Given the description of an element on the screen output the (x, y) to click on. 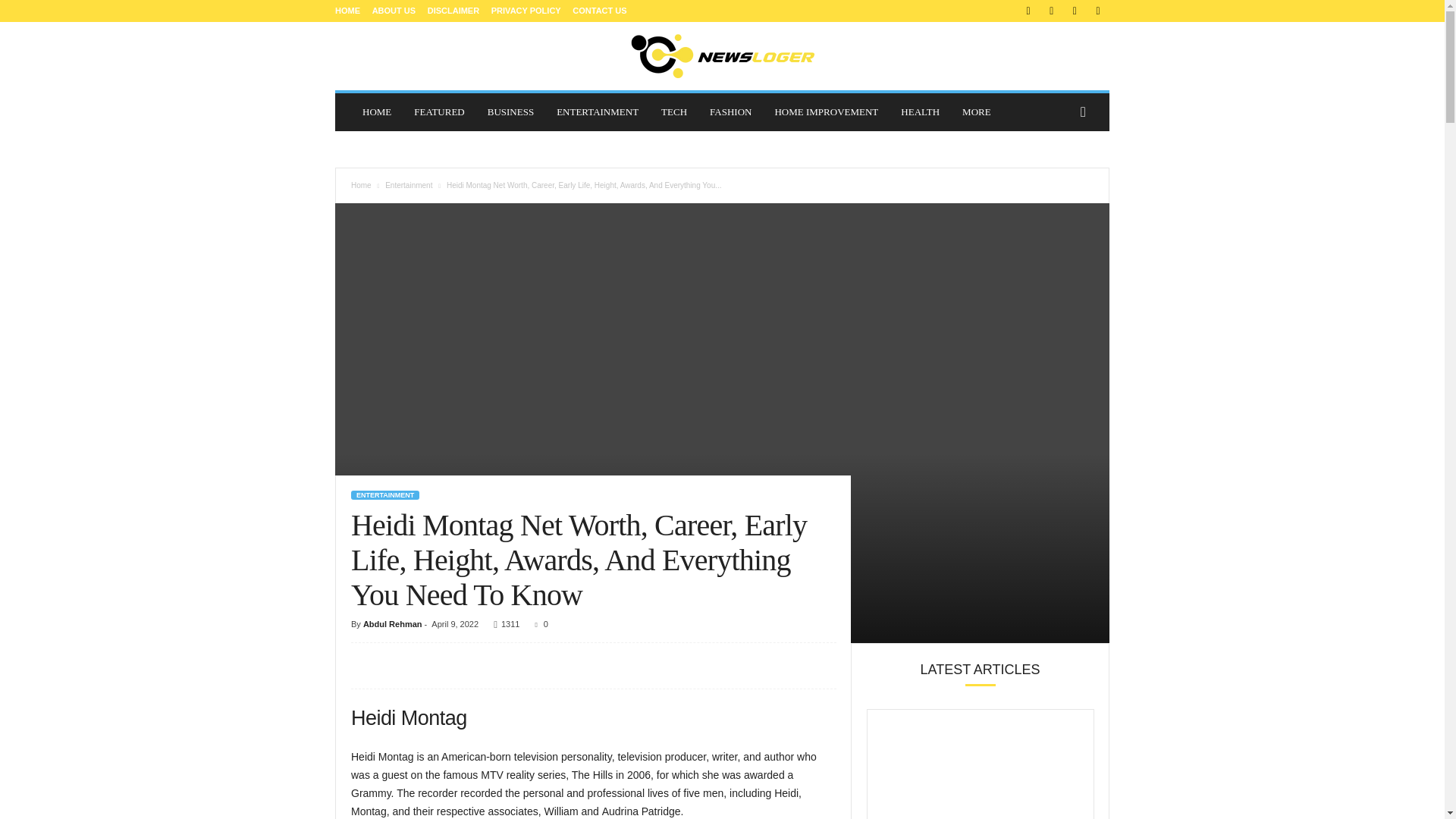
View all posts in Entertainment (408, 184)
Newsloger (721, 56)
ABOUT US (393, 10)
PRIVACY POLICY (526, 10)
CONTACT US (599, 10)
HOME (376, 112)
DISCLAIMER (453, 10)
HOME (346, 10)
